Given the description of an element on the screen output the (x, y) to click on. 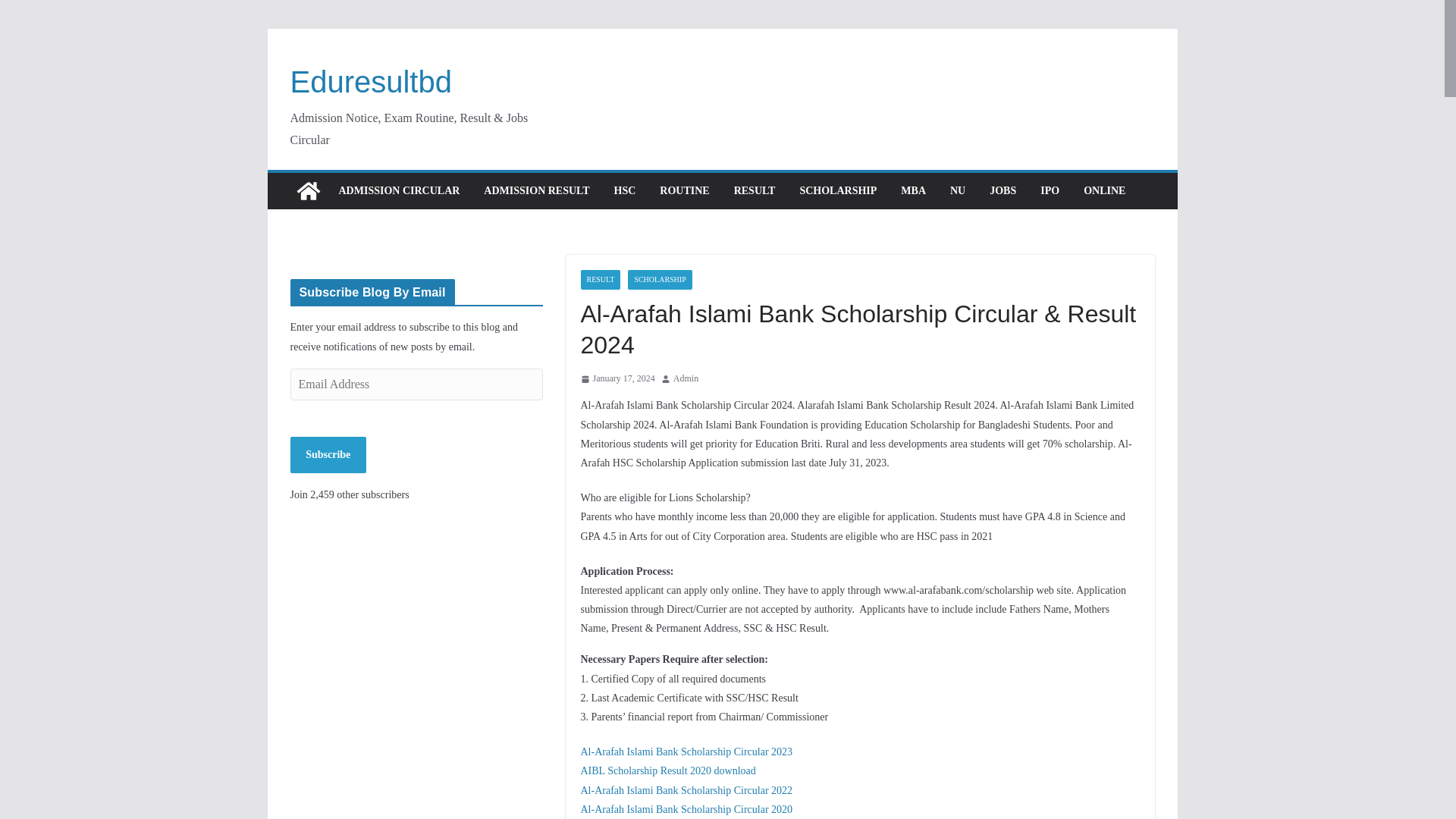
8:07 PM (617, 379)
AIBL Scholarship Result 2020 download (667, 770)
SCHOLARSHIP (659, 279)
RESULT (600, 279)
ADMISSION CIRCULAR (398, 190)
Admin (685, 379)
Admin (685, 379)
Eduresultbd (370, 81)
Al-Arafah Islami Bank Scholarship Circular 2022 (686, 790)
Eduresultbd (370, 81)
ADMISSION RESULT (536, 190)
Online Available Service (1104, 190)
SCHOLARSHIP (837, 190)
IPO (1050, 190)
